Given the description of an element on the screen output the (x, y) to click on. 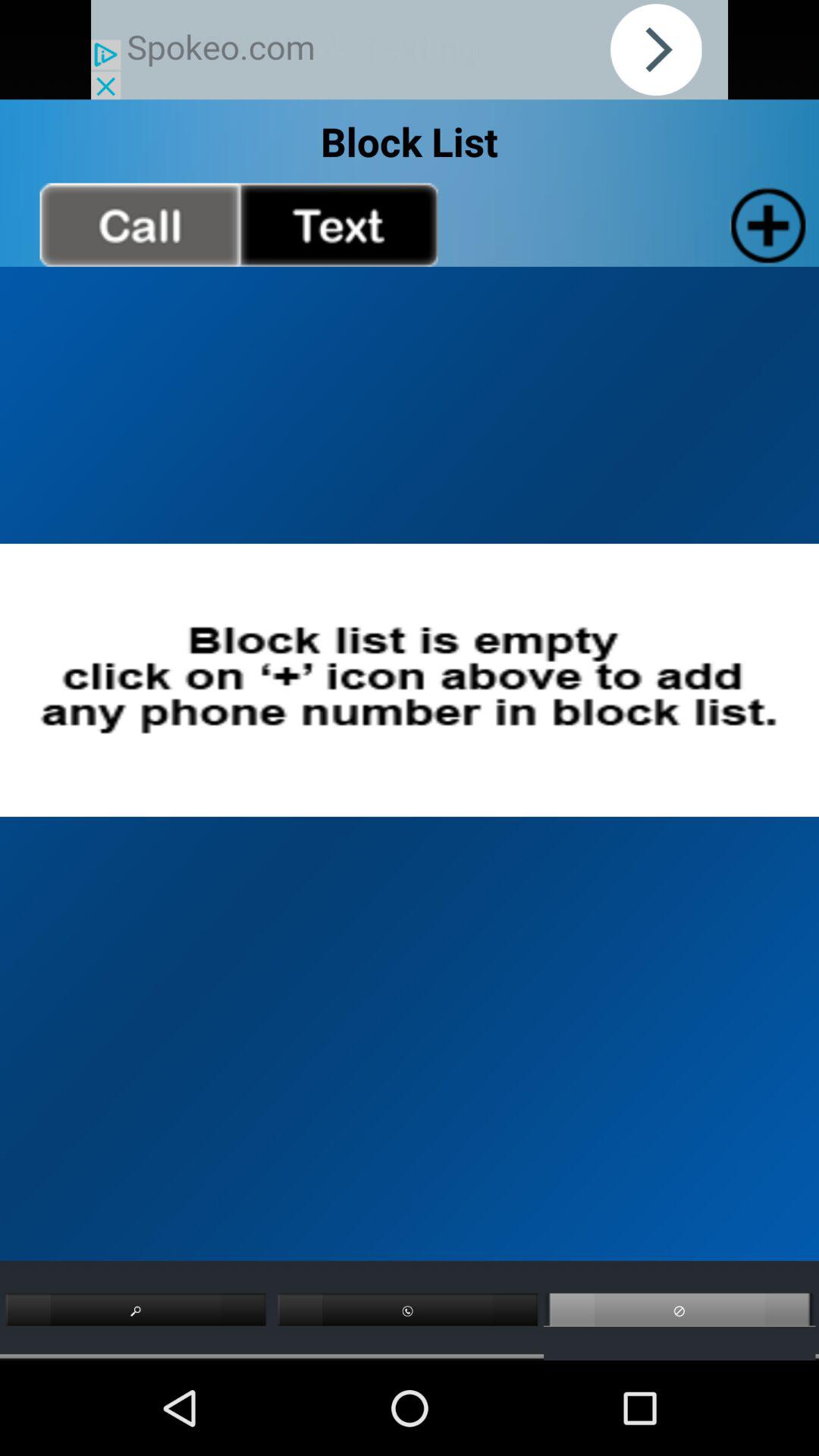
view blink advertisement (409, 49)
